Given the description of an element on the screen output the (x, y) to click on. 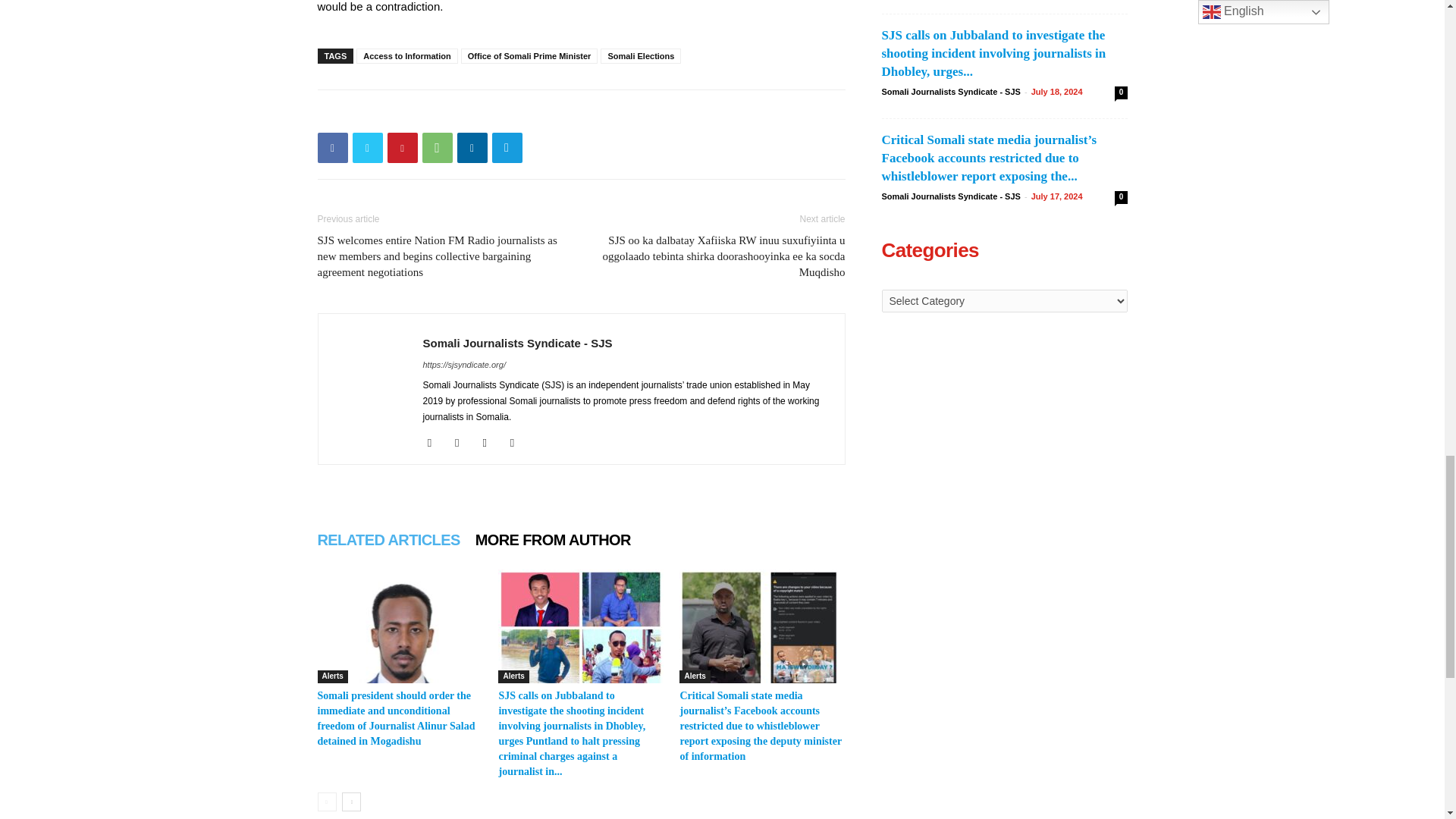
bottomFacebookLike (430, 114)
Facebook (332, 147)
Twitter (366, 147)
